Given the description of an element on the screen output the (x, y) to click on. 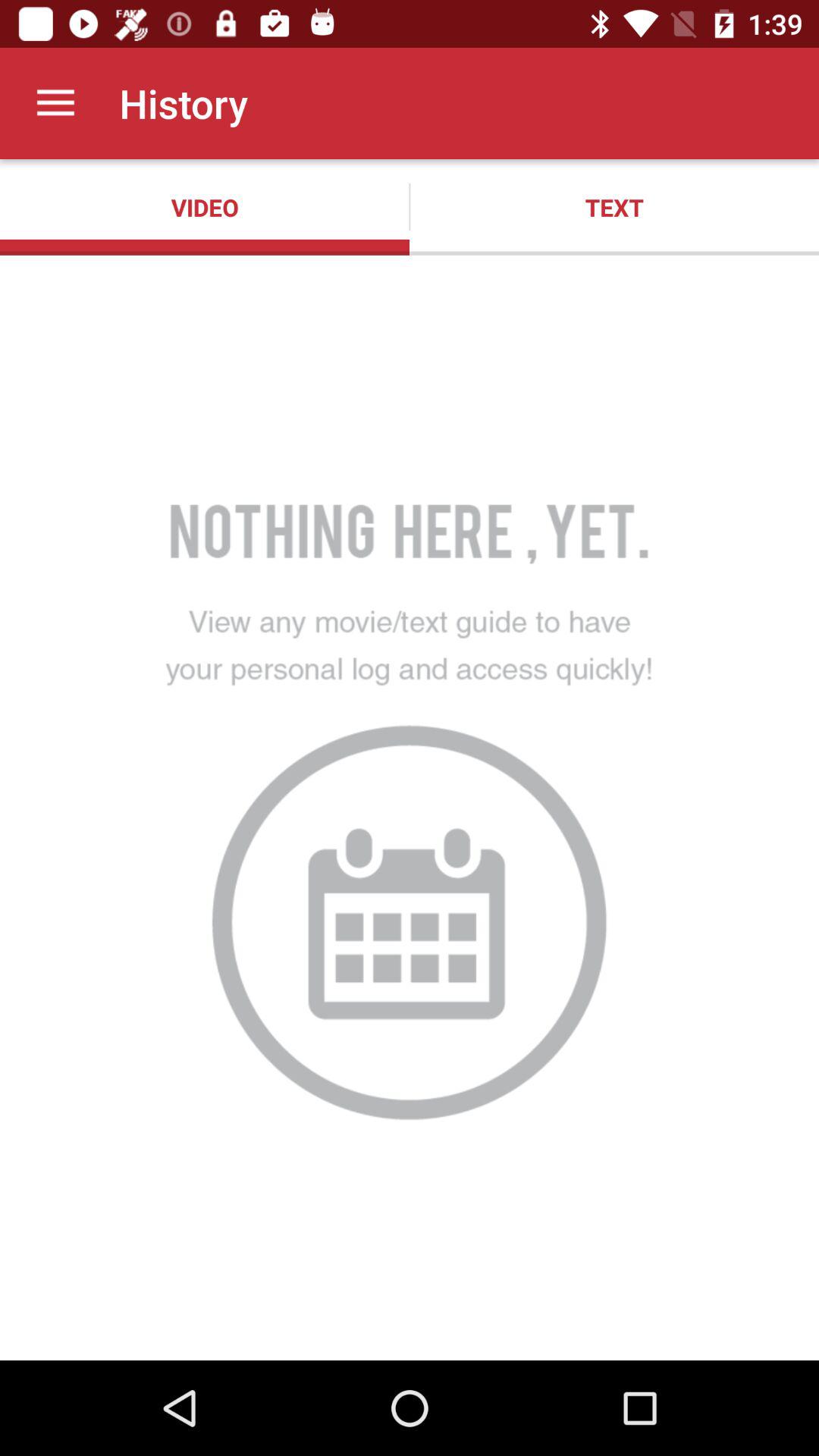
click the icon next to history item (55, 103)
